Given the description of an element on the screen output the (x, y) to click on. 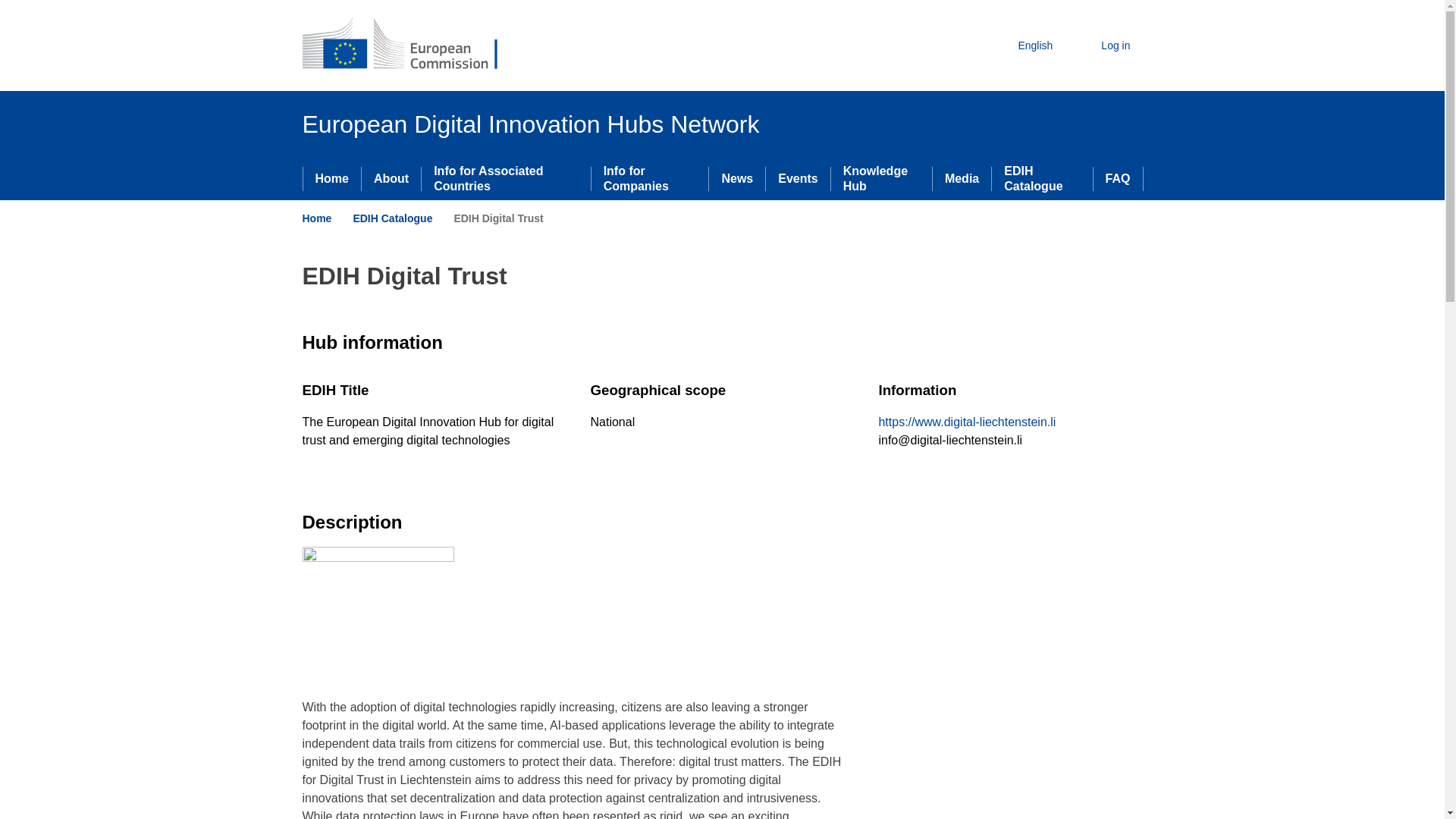
EDIH Catalogue (1041, 178)
FAQ (1117, 178)
EDIH Catalogue (392, 218)
English (1022, 45)
Home (331, 178)
Skip to main content (6, 6)
Info for Associated Countries (505, 178)
European Commission (411, 45)
About (390, 178)
News (737, 178)
